Given the description of an element on the screen output the (x, y) to click on. 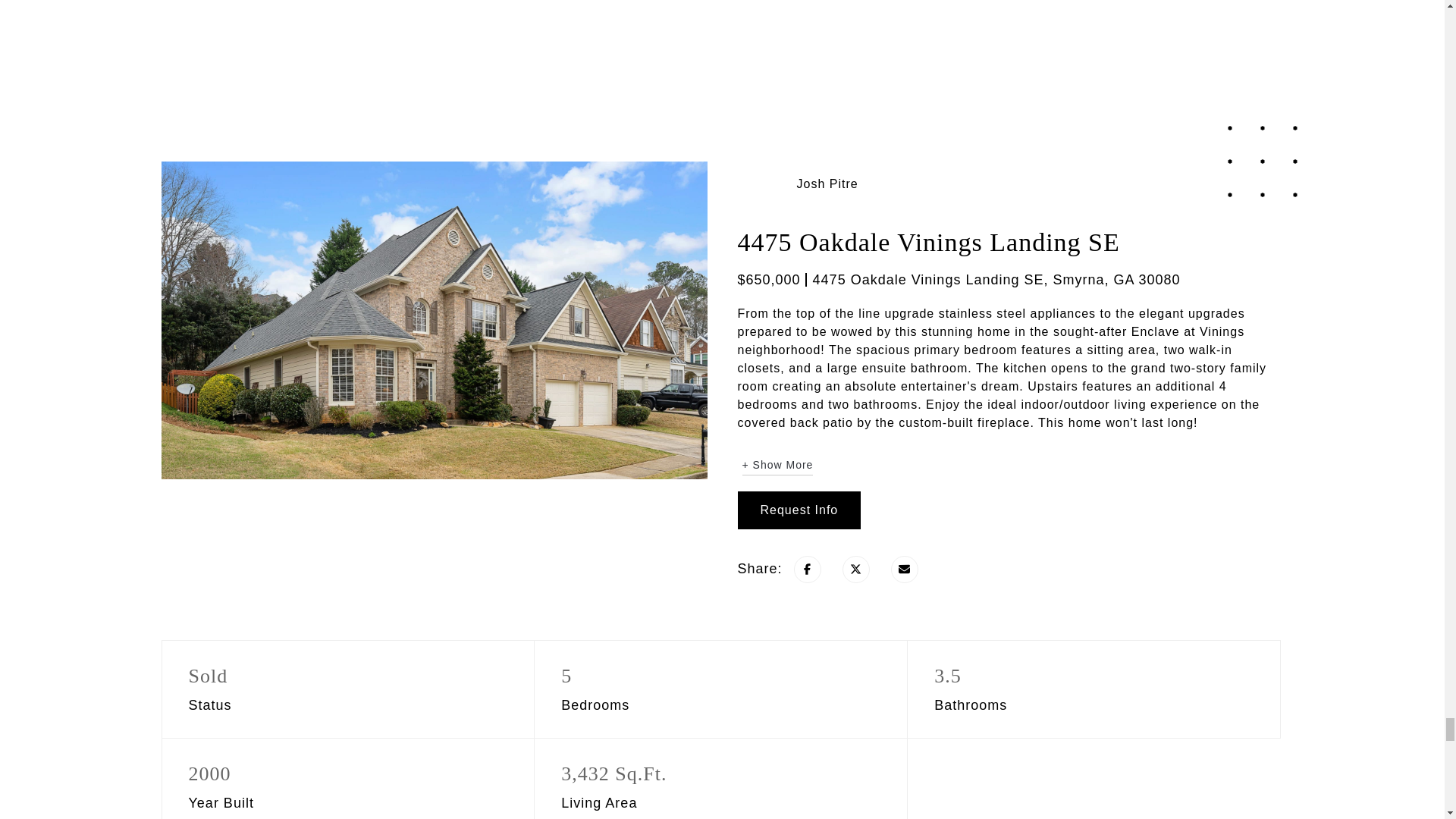
Request Info (798, 510)
